Given the description of an element on the screen output the (x, y) to click on. 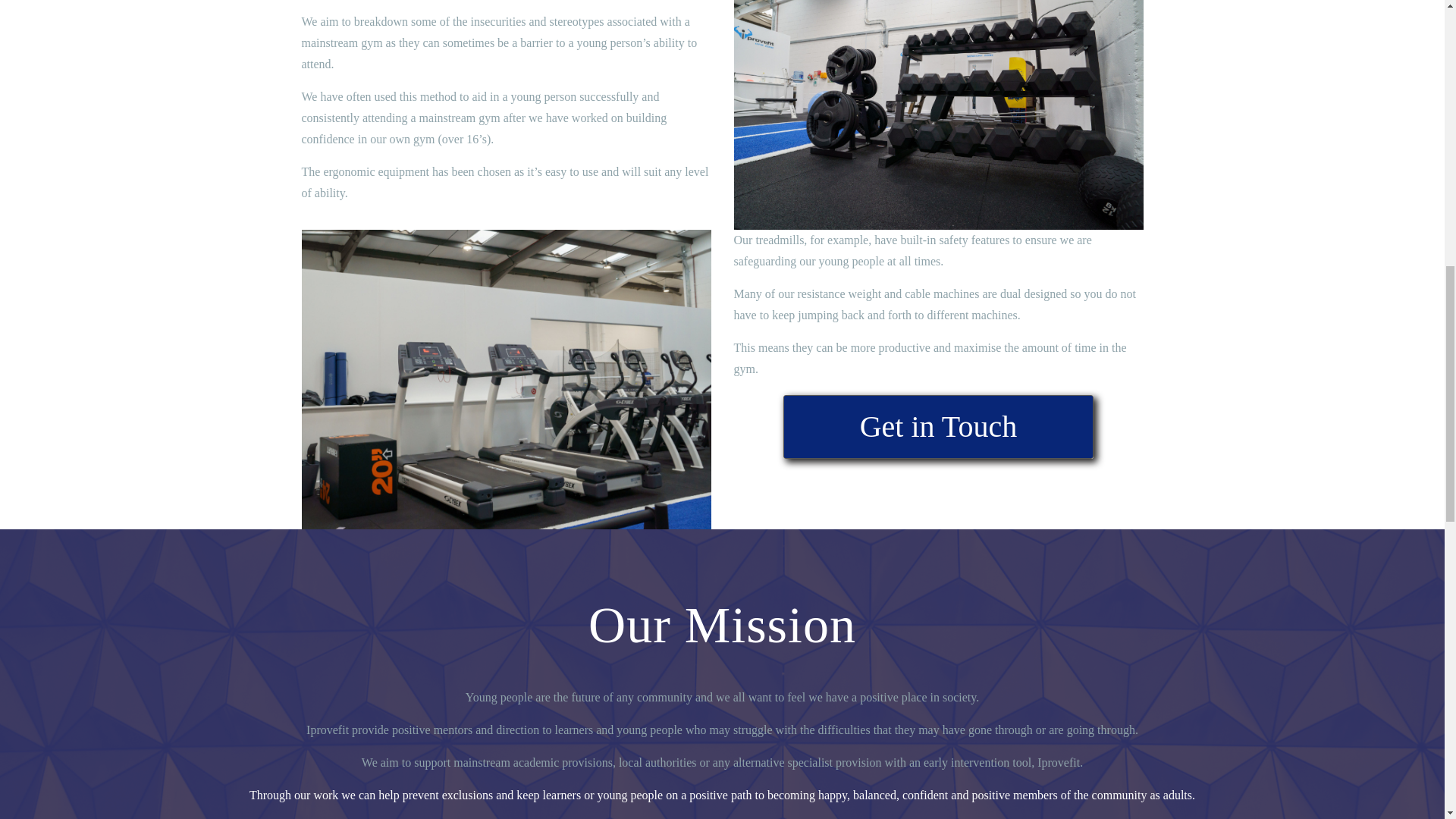
Get in Touch (938, 426)
